Given the description of an element on the screen output the (x, y) to click on. 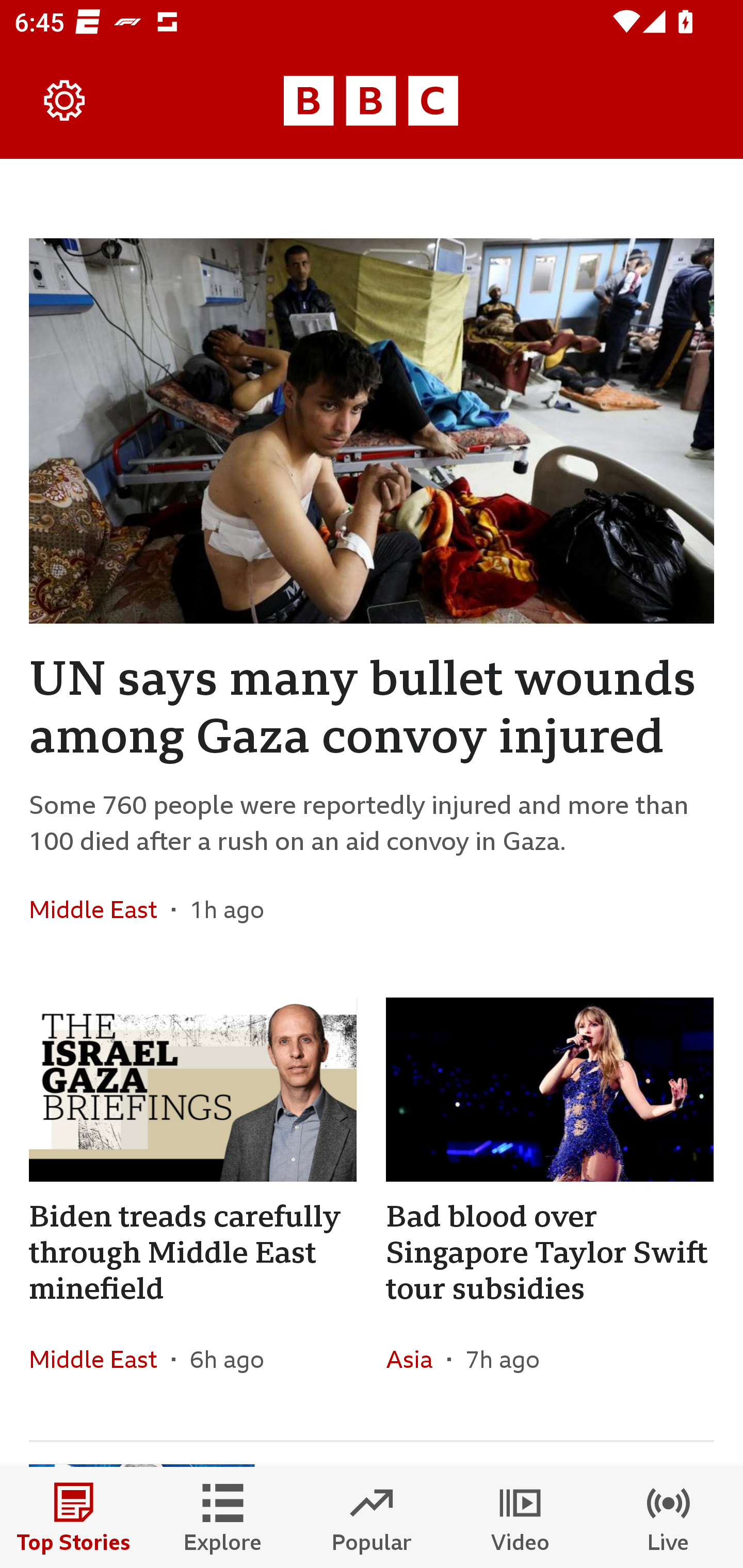
Settings (64, 100)
Middle East In the section Middle East (99, 909)
Middle East In the section Middle East (99, 1359)
Asia In the section Asia (416, 1359)
Explore (222, 1517)
Popular (371, 1517)
Video (519, 1517)
Live (668, 1517)
